Given the description of an element on the screen output the (x, y) to click on. 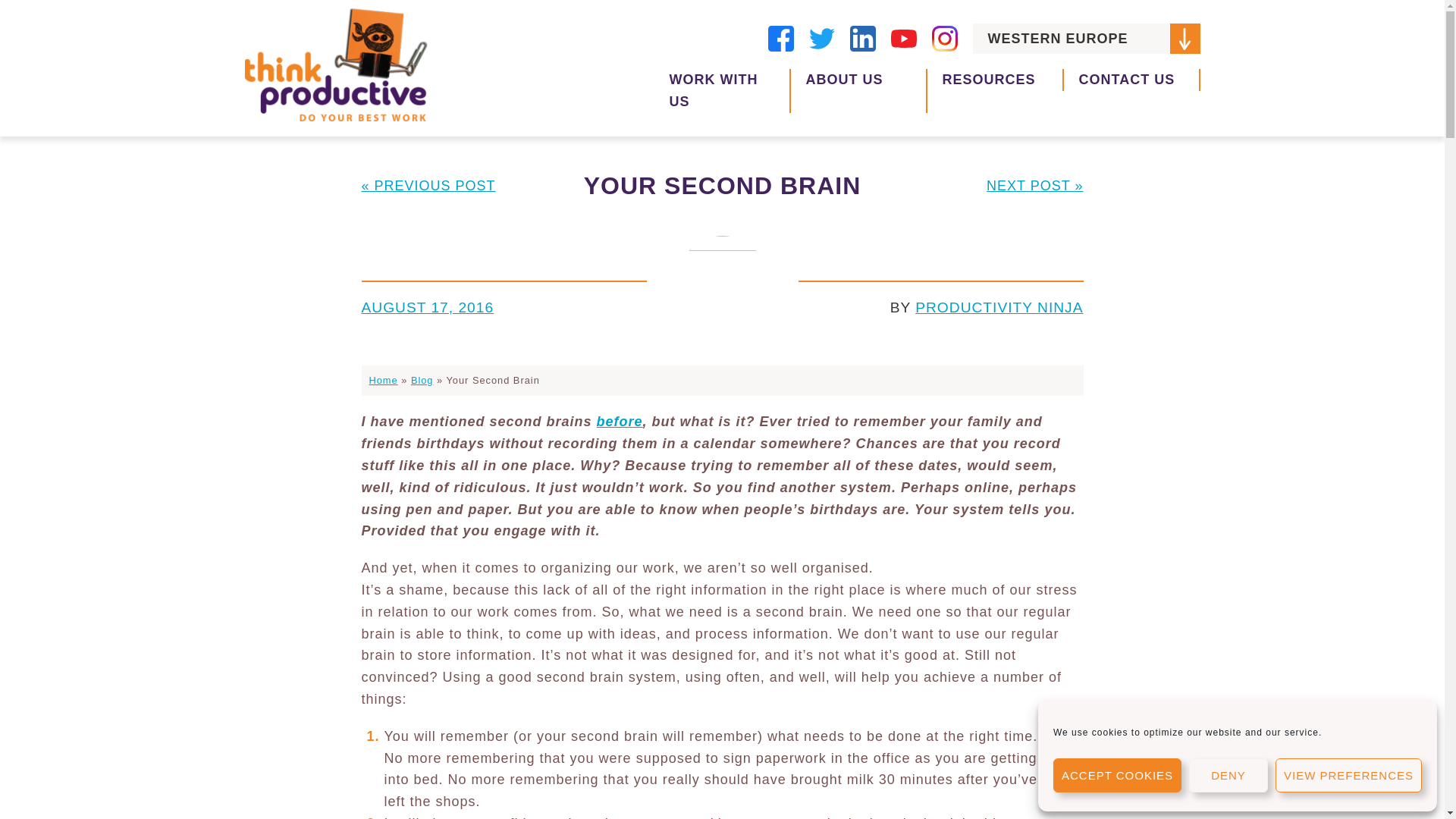
ABOUT US             (858, 90)
DENY (1228, 775)
RESOURCES (994, 79)
VIEW PREFERENCES (1348, 775)
CONTACT US (1130, 79)
ACCEPT COOKIES (1116, 775)
WORK WITH US              (721, 90)
